Given the description of an element on the screen output the (x, y) to click on. 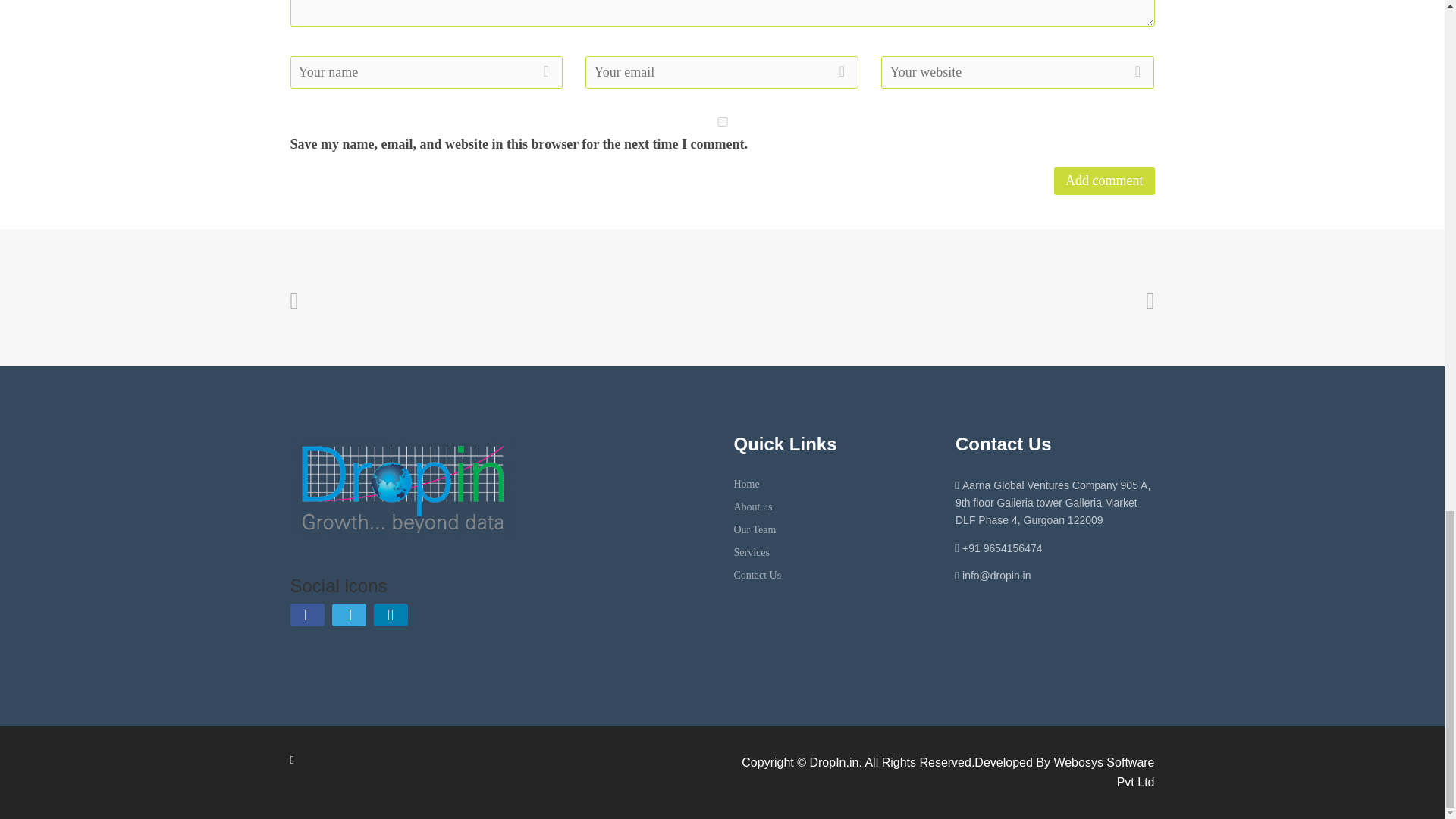
Contact Us (757, 574)
Services (751, 552)
Add comment (1104, 180)
About us (753, 506)
Our Team (754, 529)
Logo (402, 486)
yes (721, 121)
Home (746, 483)
Add comment (1104, 180)
